Given the description of an element on the screen output the (x, y) to click on. 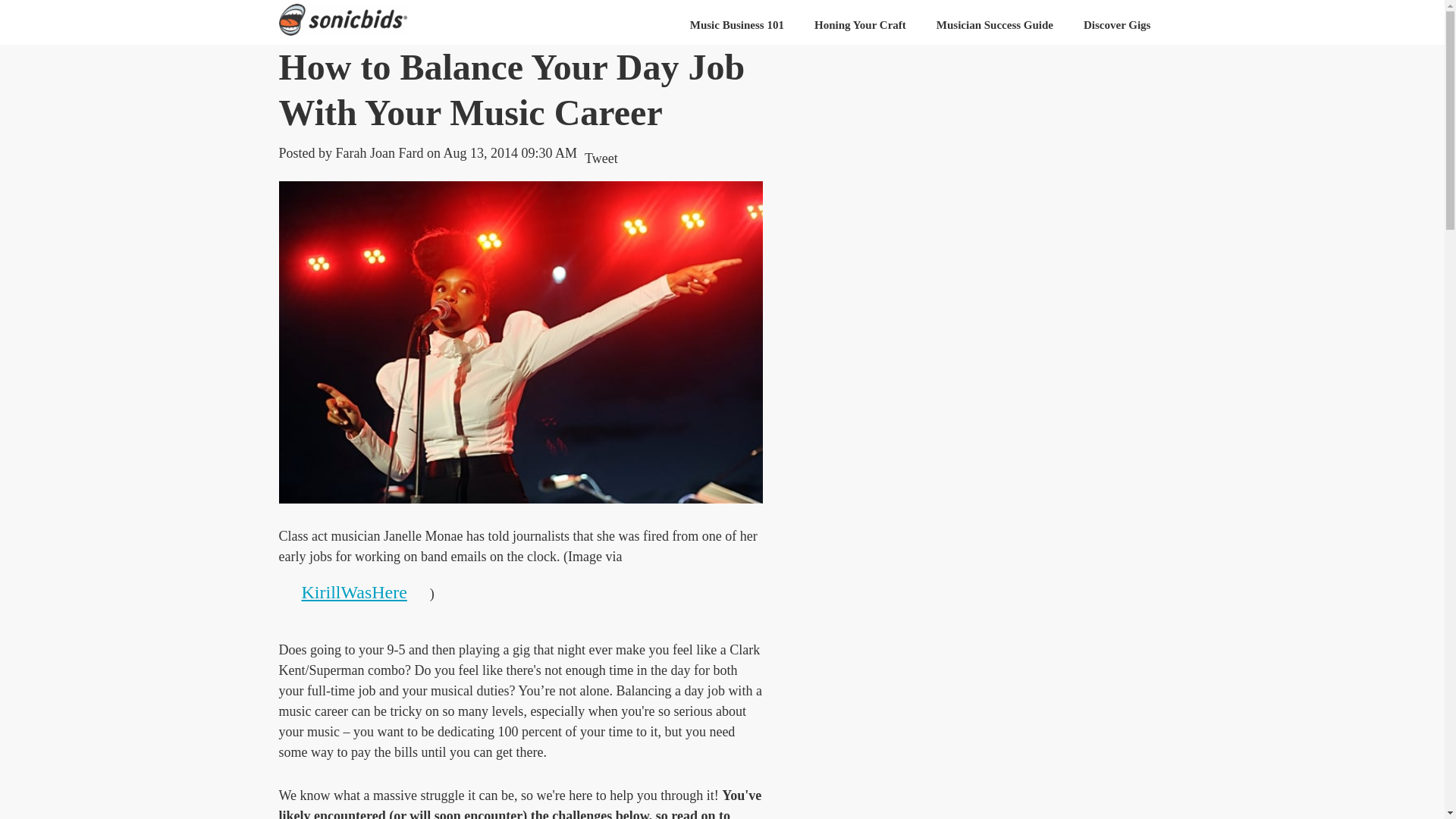
Farah Joan Fard (379, 152)
Tweet (601, 157)
Honing Your Craft (860, 25)
Musician Success Guide (994, 25)
logo-sonicbids-horizontal-lockup2x (343, 20)
Music Business 101 (737, 25)
Discover Gigs (1117, 25)
KirillWasHere (354, 592)
